Given the description of an element on the screen output the (x, y) to click on. 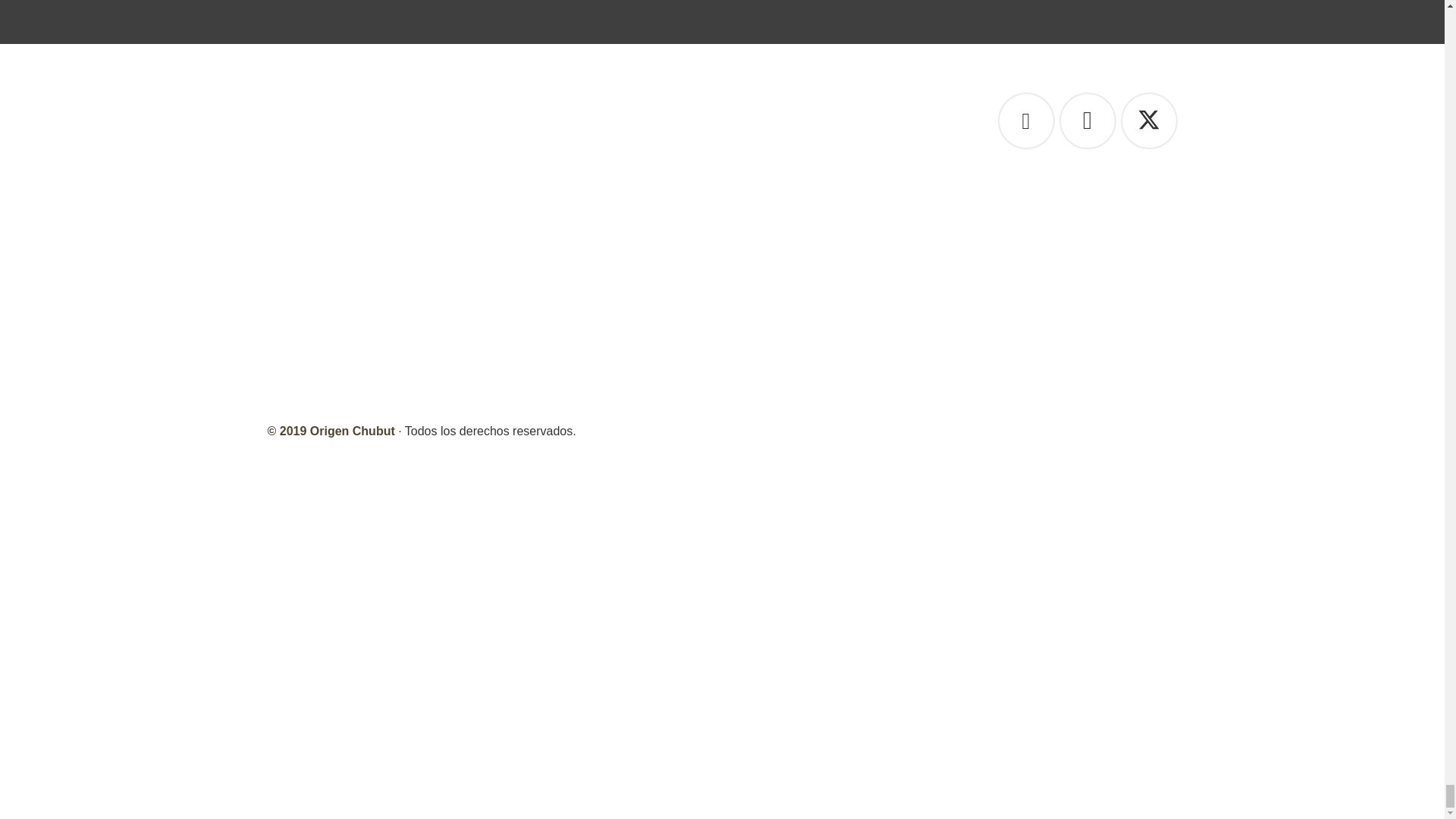
Facebook (1025, 120)
Instagram (1086, 120)
Twitter (1149, 120)
